Given the description of an element on the screen output the (x, y) to click on. 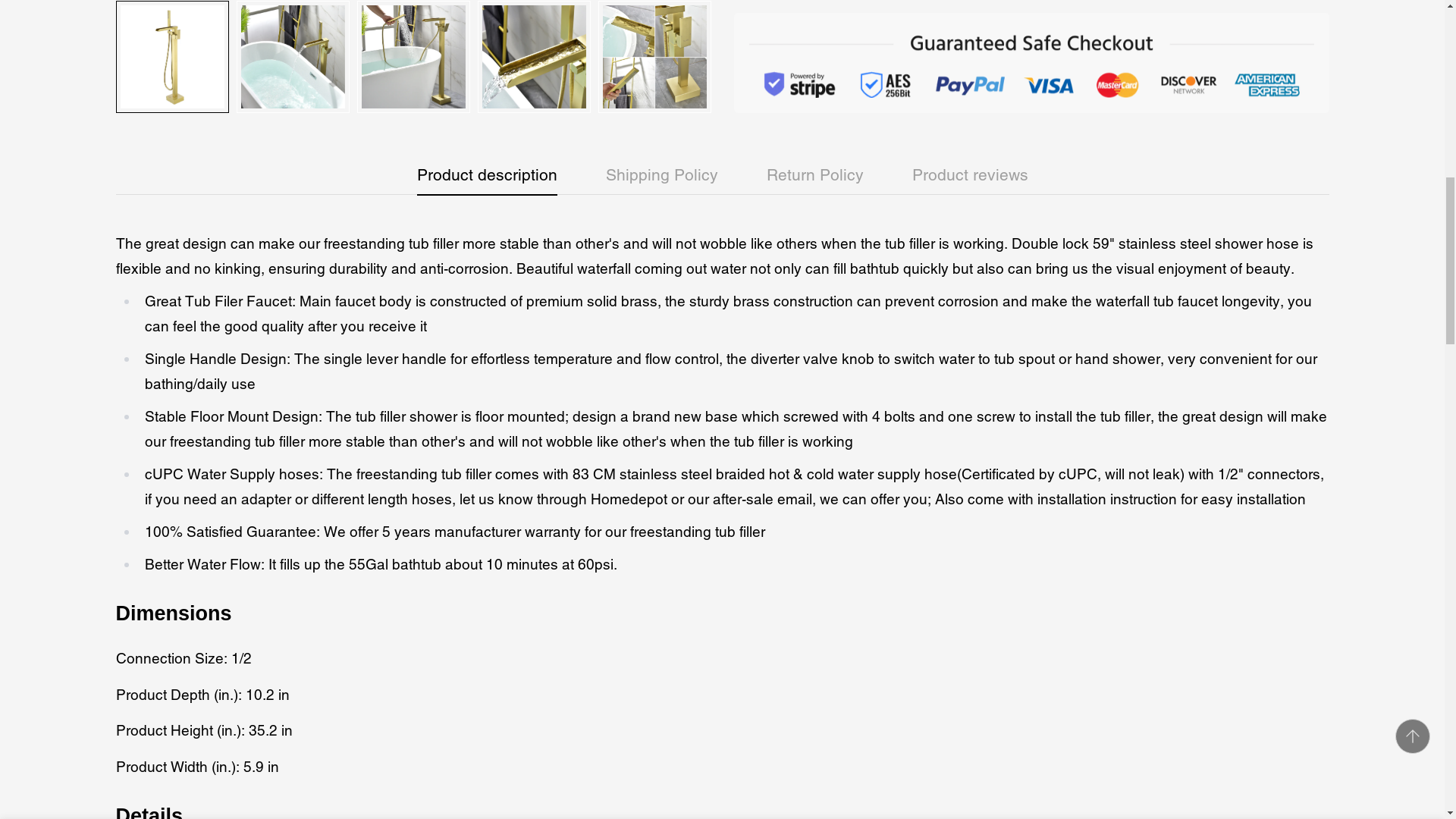
1 (954, 28)
